Given the description of an element on the screen output the (x, y) to click on. 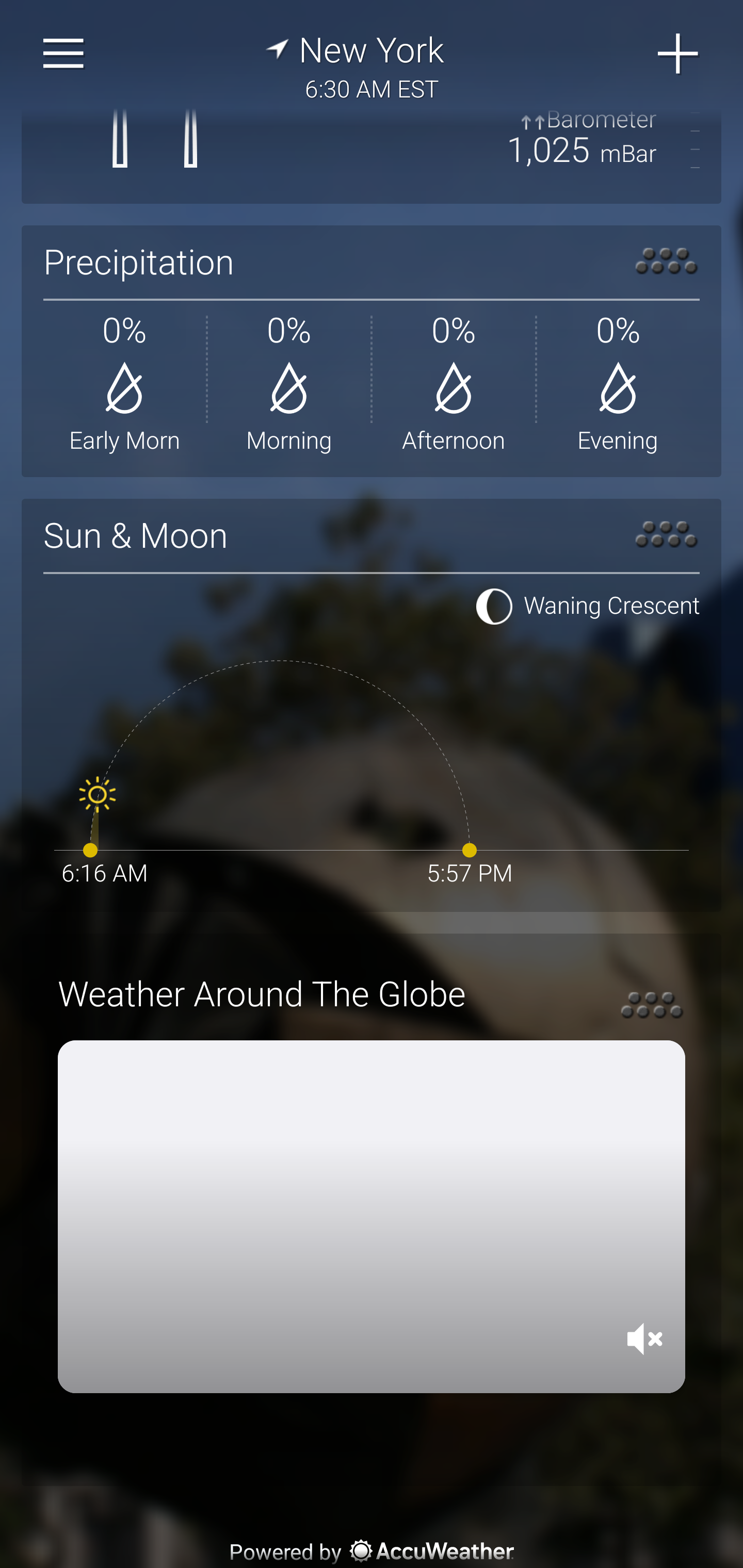
Sidebar (64, 54)
Add City (678, 53)
Unmute (645, 1338)
Powered by (371, 1551)
